Given the description of an element on the screen output the (x, y) to click on. 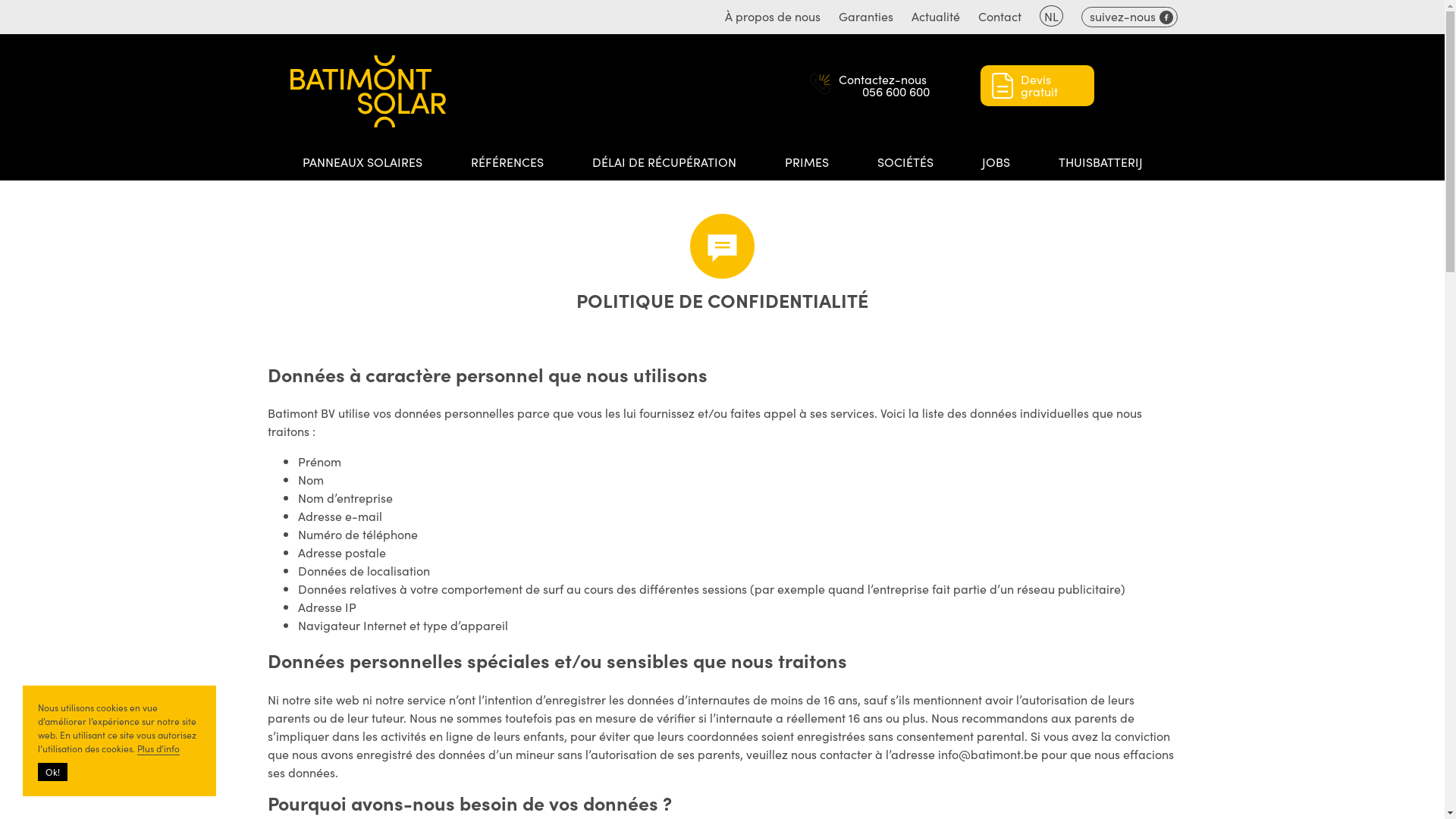
PANNEAUX SOLAIRES Element type: text (361, 161)
suivez-nous Element type: text (1129, 16)
JOBS Element type: text (995, 161)
Devis
gratuit Element type: text (1036, 85)
Contact Element type: text (999, 15)
056 600 600 Element type: text (895, 90)
PRIMES Element type: text (805, 161)
NL Element type: text (1050, 15)
THUISBATTERIJ Element type: text (1100, 161)
Ok! Element type: text (52, 771)
Garanties Element type: text (865, 15)
Plus d'info Element type: text (158, 748)
Skip to main content Element type: text (0, 0)
